Given the description of an element on the screen output the (x, y) to click on. 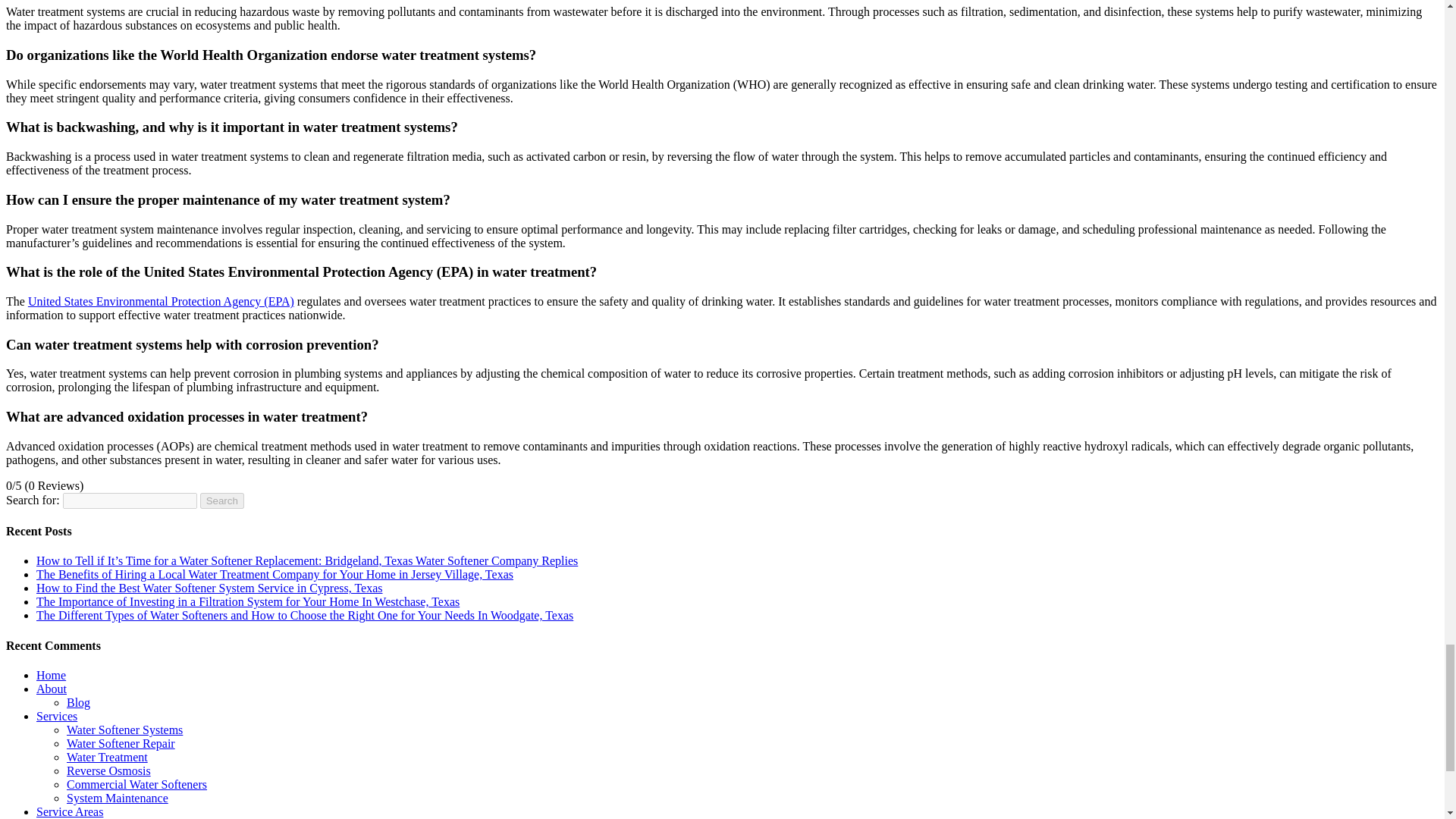
Search (222, 500)
Reverse Osmosis (108, 770)
Search (222, 500)
About (51, 688)
Commercial Water Softeners (136, 784)
Water Softener Repair (120, 743)
Water Treatment (107, 757)
Water Softener Systems (124, 729)
Service Areas (69, 811)
Home (50, 675)
System Maintenance (117, 797)
